Given the description of an element on the screen output the (x, y) to click on. 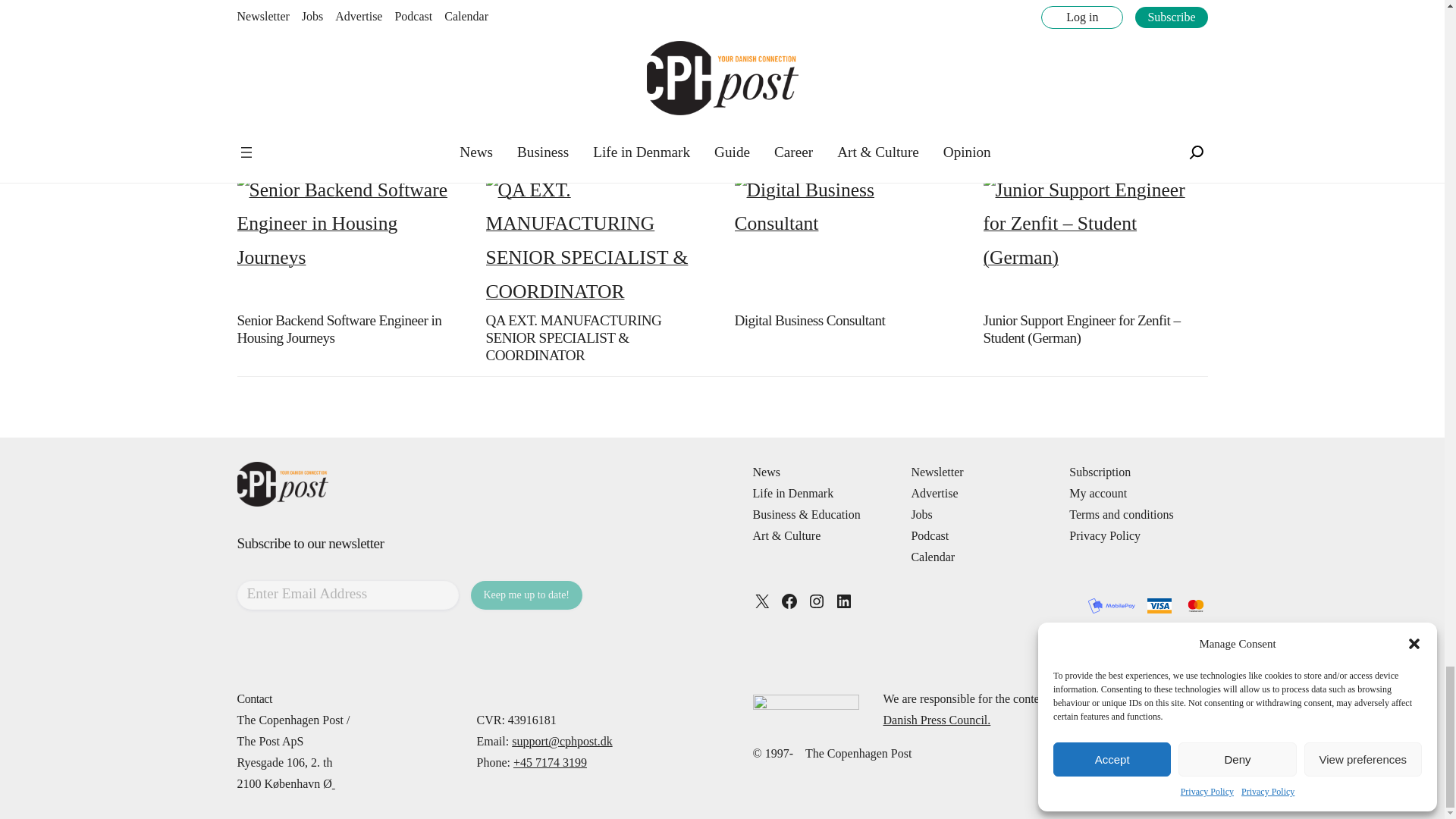
Keep me up to date! (526, 594)
